Given the description of an element on the screen output the (x, y) to click on. 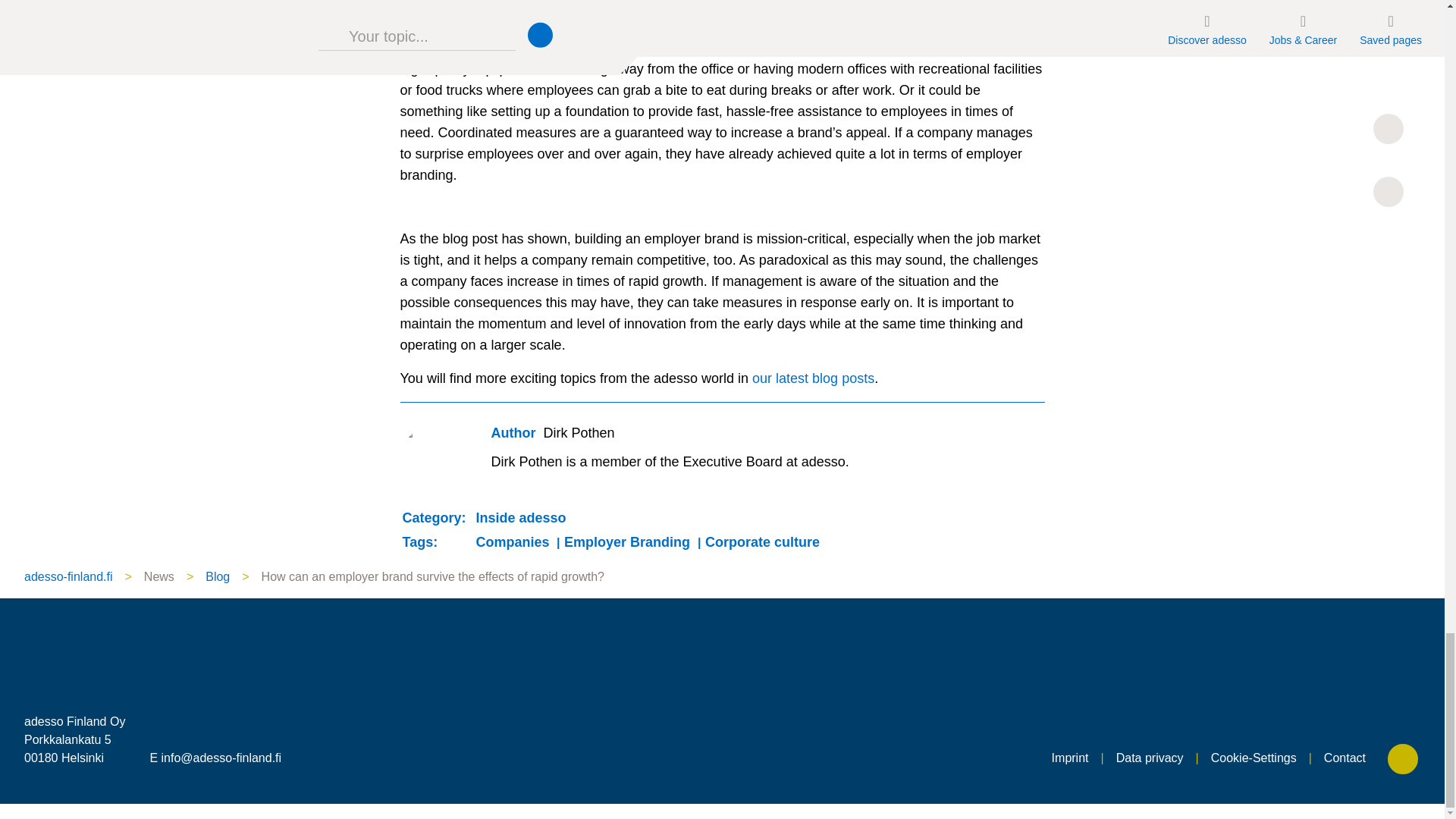
Picture Dirk Pothen (434, 459)
